Given the description of an element on the screen output the (x, y) to click on. 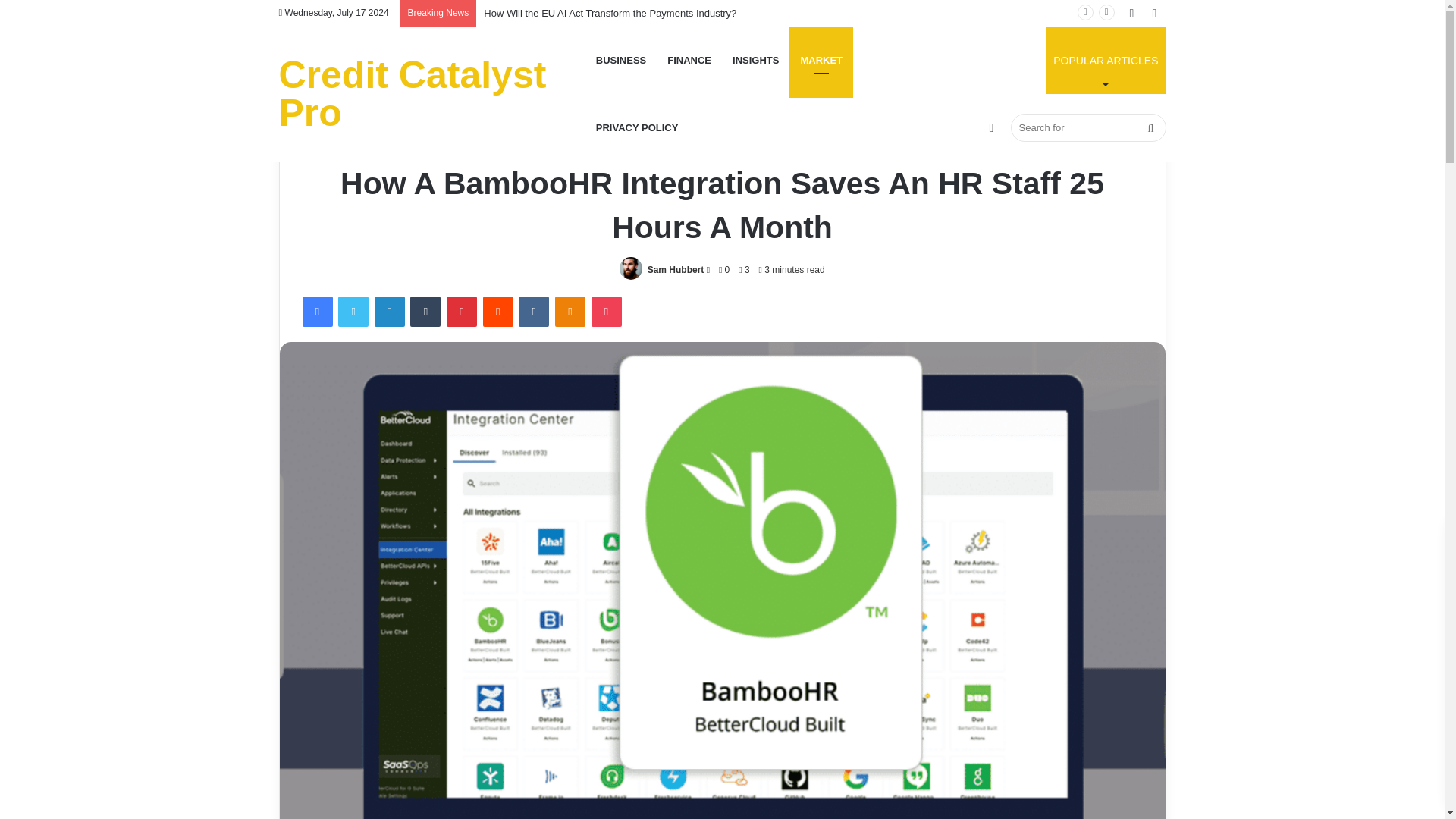
Twitter (352, 311)
LinkedIn (389, 311)
Reddit (498, 311)
Tumblr (425, 311)
Market (722, 149)
How Will the EU AI Act Transform the Payments Industry? (609, 12)
Search for (1088, 127)
Credit Catalyst Pro (432, 93)
FINANCE (689, 60)
PRIVACY POLICY (636, 127)
Sam Hubbert (675, 269)
VKontakte (533, 311)
MARKET (821, 60)
INSIGHTS (755, 60)
Credit Catalyst Pro (432, 93)
